Given the description of an element on the screen output the (x, y) to click on. 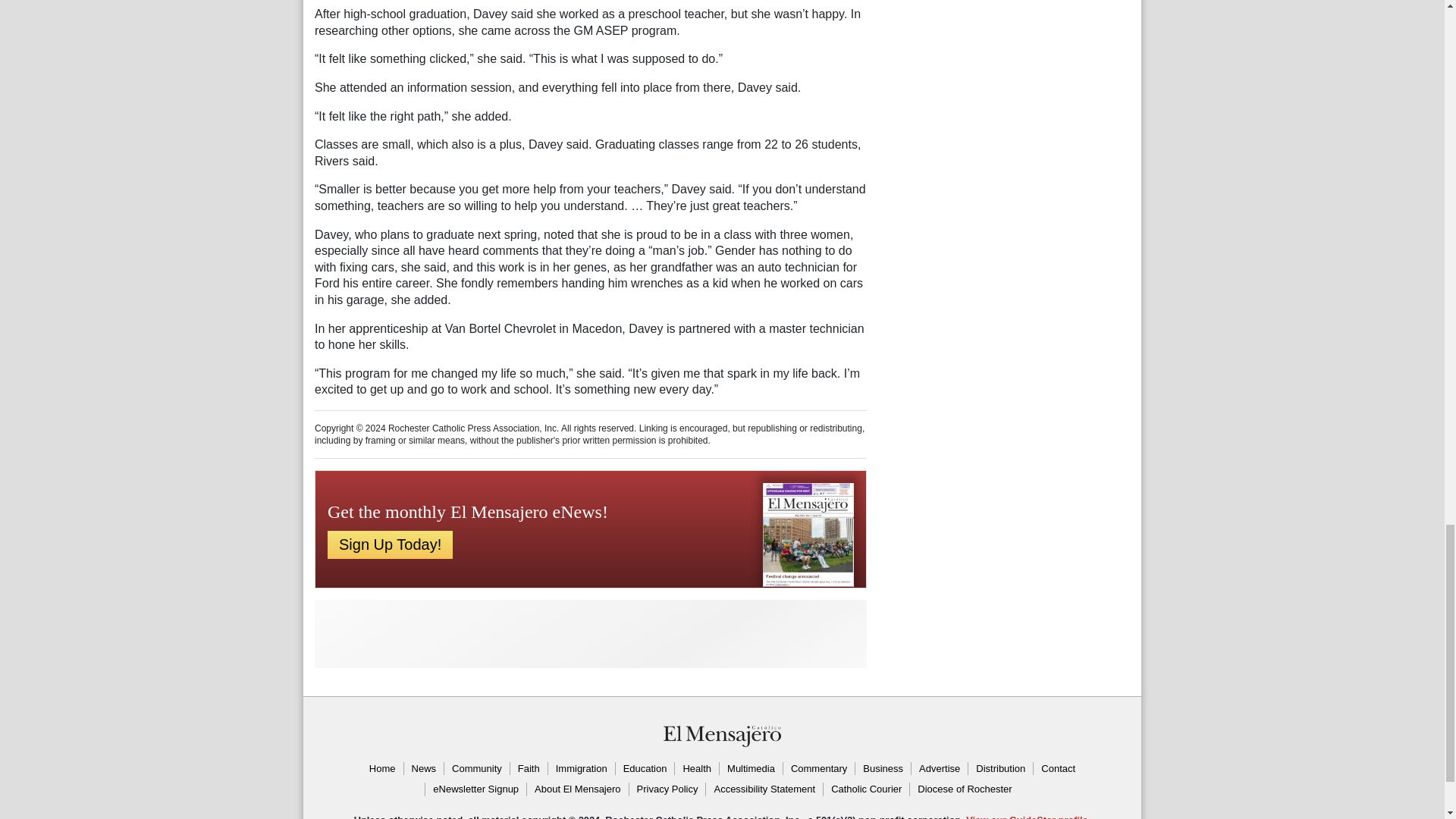
Commentary (818, 768)
Business (882, 768)
Contact (1057, 768)
Immigration (580, 768)
Advertise (939, 768)
News (423, 768)
Multimedia (751, 768)
Community (476, 768)
Health (696, 768)
Home (382, 768)
Education (644, 768)
Distribution (1000, 768)
Faith (528, 768)
Sign Up Today! (389, 544)
